Given the description of an element on the screen output the (x, y) to click on. 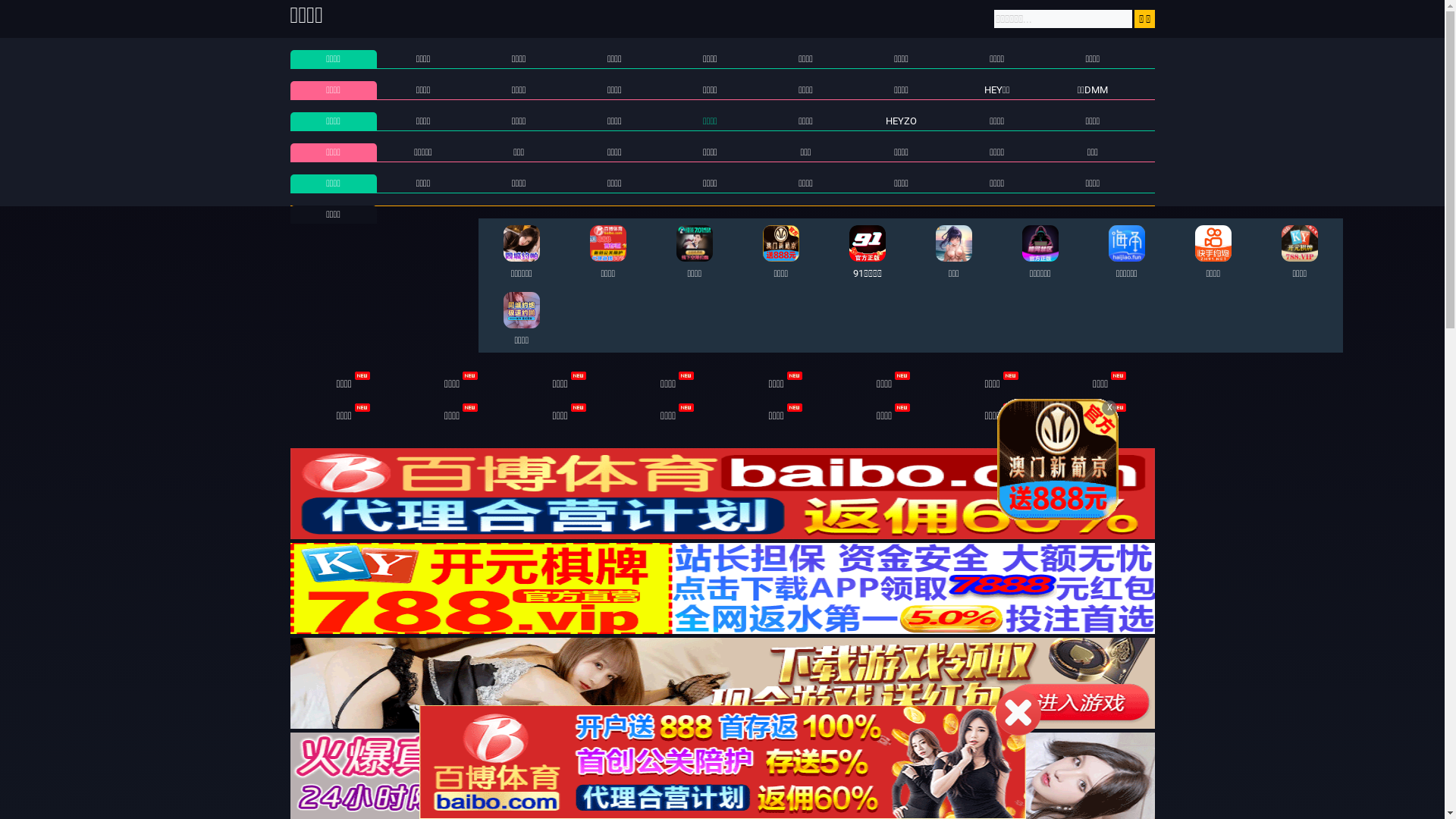
HEYZO Element type: text (900, 120)
